Given the description of an element on the screen output the (x, y) to click on. 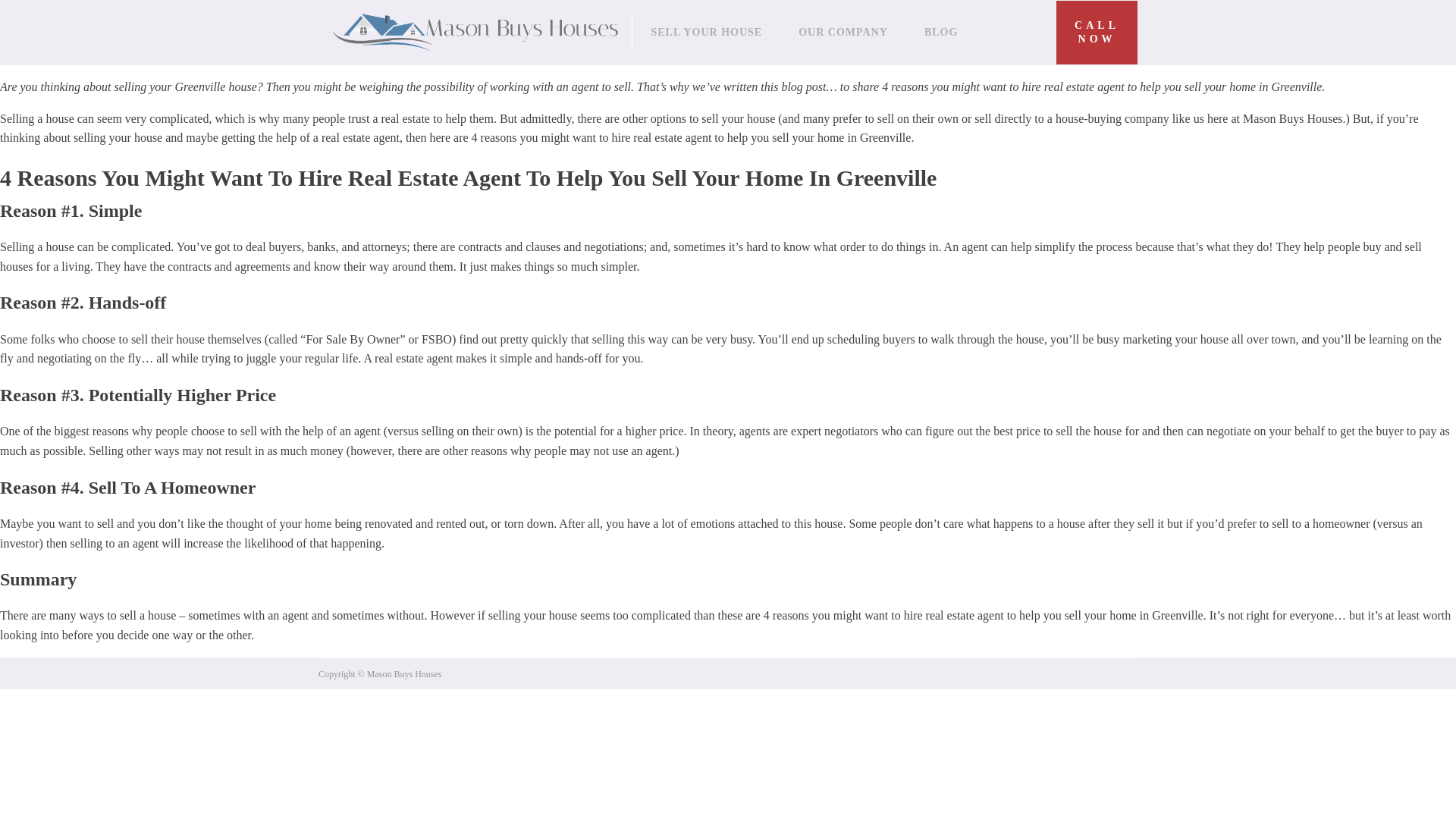
OUR COMPANY (842, 32)
SELL YOUR HOUSE (705, 32)
BLOG (1097, 32)
